Given the description of an element on the screen output the (x, y) to click on. 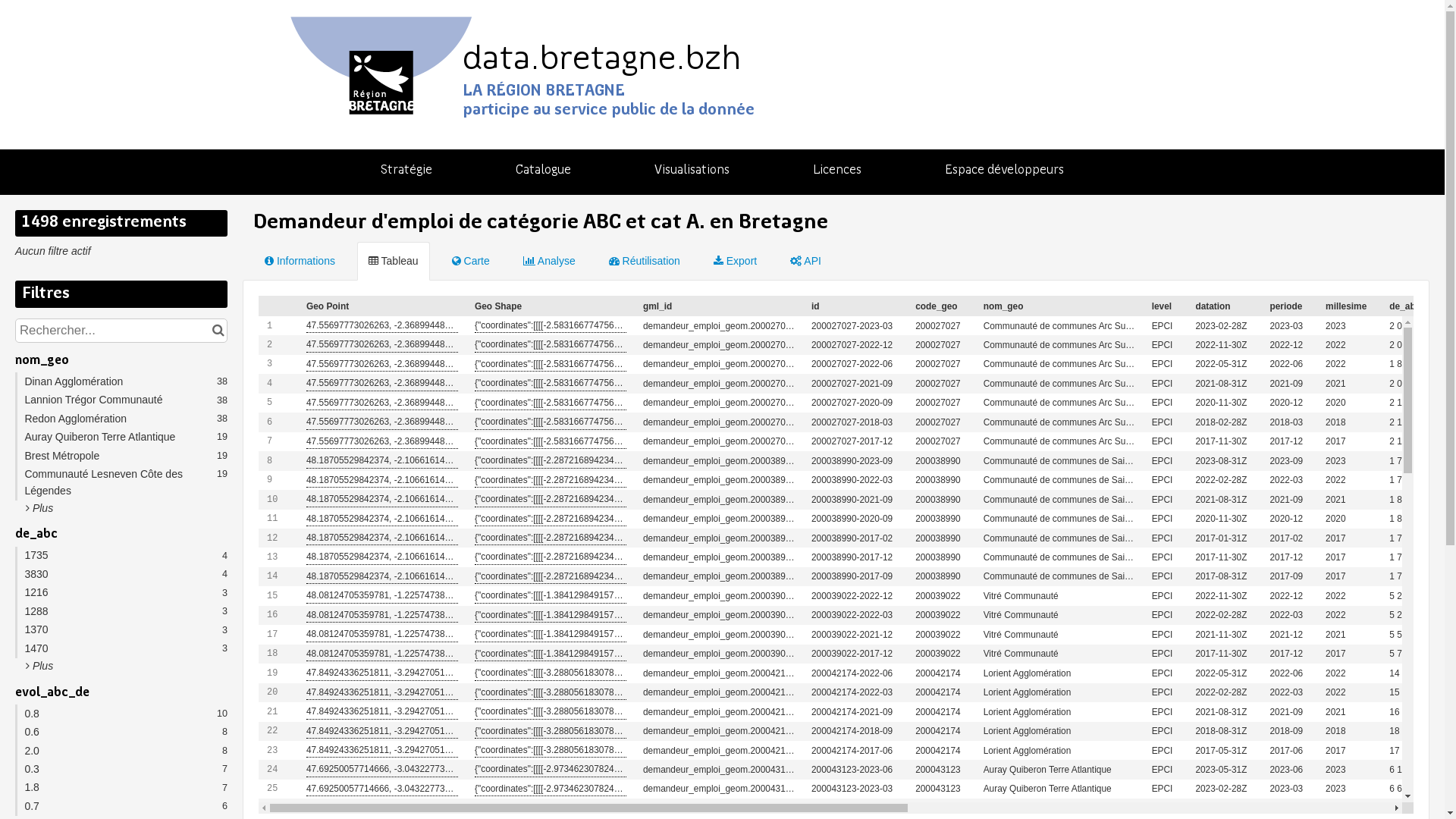
3
1470 Element type: text (121, 648)
6
0.7 Element type: text (121, 806)
19
Auray Quiberon Terre Atlantique Element type: text (121, 437)
8
2.0 Element type: text (121, 750)
Licences Element type: text (837, 170)
8
0.6 Element type: text (121, 732)
3
1288 Element type: text (121, 611)
4
3830 Element type: text (121, 574)
3
1216 Element type: text (121, 592)
Plus Element type: text (39, 508)
Export Element type: text (735, 261)
7
0.3 Element type: text (121, 769)
Carte Element type: text (470, 261)
3
1370 Element type: text (121, 630)
7
1.8 Element type: text (121, 787)
Informations Element type: text (299, 261)
Plus Element type: text (39, 665)
Visualisations Element type: text (691, 170)
10
0.8 Element type: text (121, 713)
Tableau Element type: text (393, 261)
API Element type: text (805, 261)
4
1735 Element type: text (121, 555)
Catalogue Element type: text (542, 171)
Analyse Element type: text (548, 261)
